Given the description of an element on the screen output the (x, y) to click on. 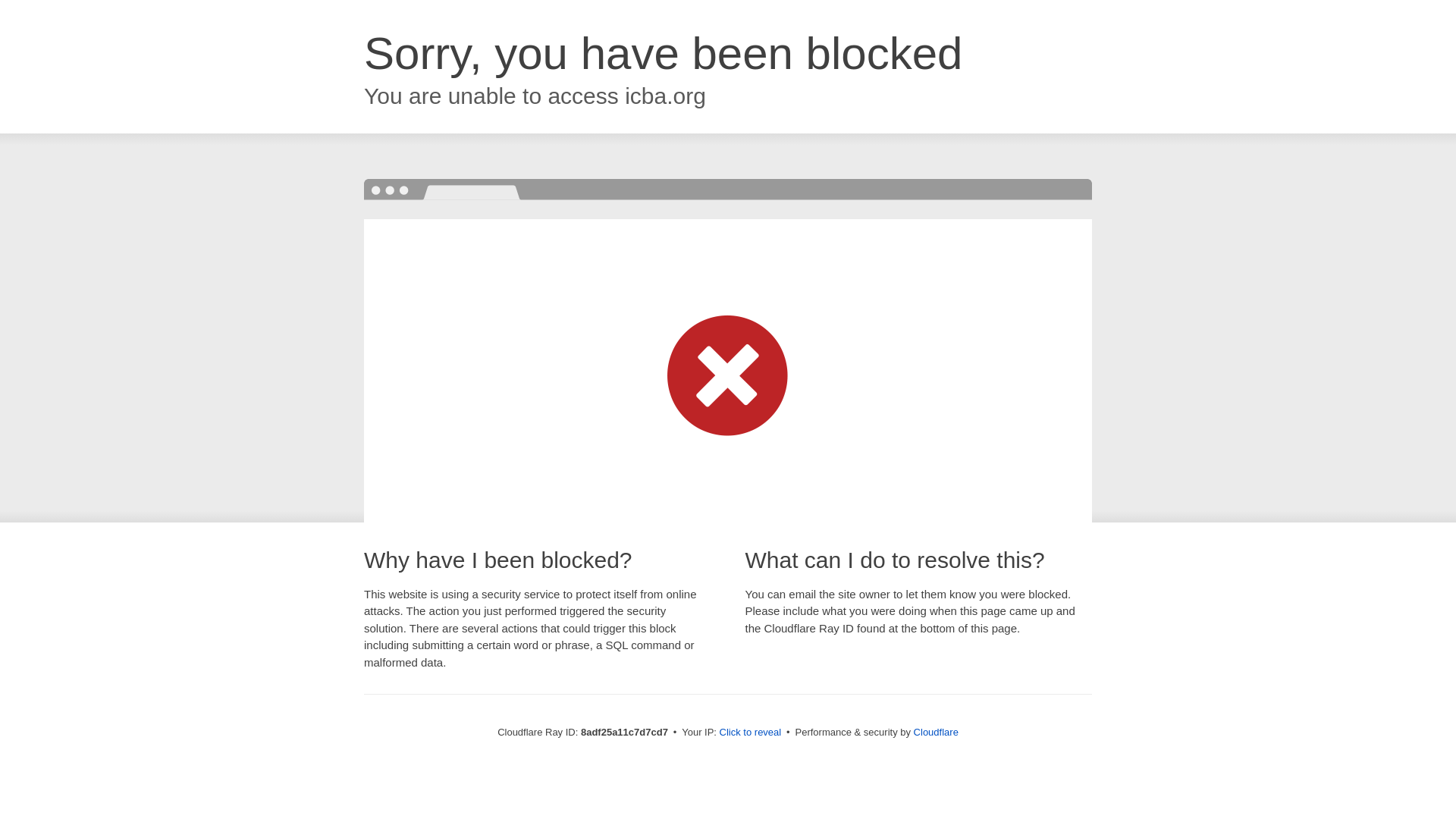
Cloudflare (936, 731)
Click to reveal (750, 732)
